Given the description of an element on the screen output the (x, y) to click on. 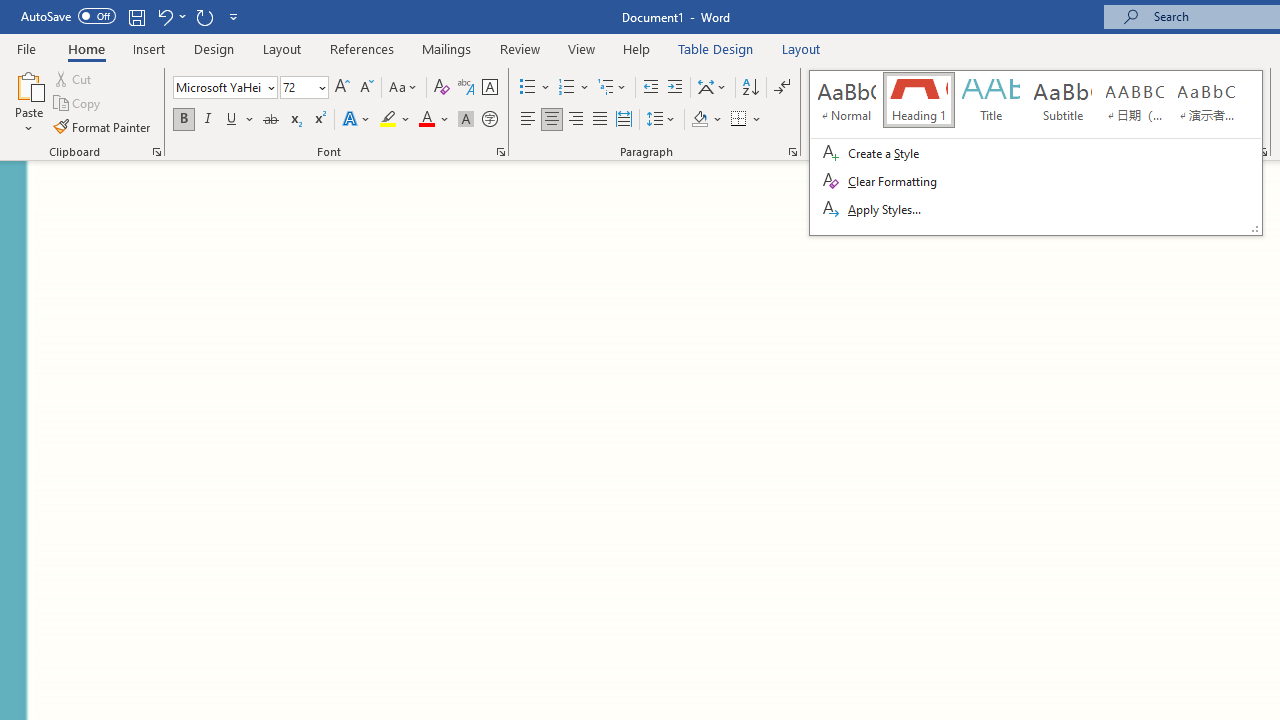
Text Highlight Color Yellow (388, 119)
